Given the description of an element on the screen output the (x, y) to click on. 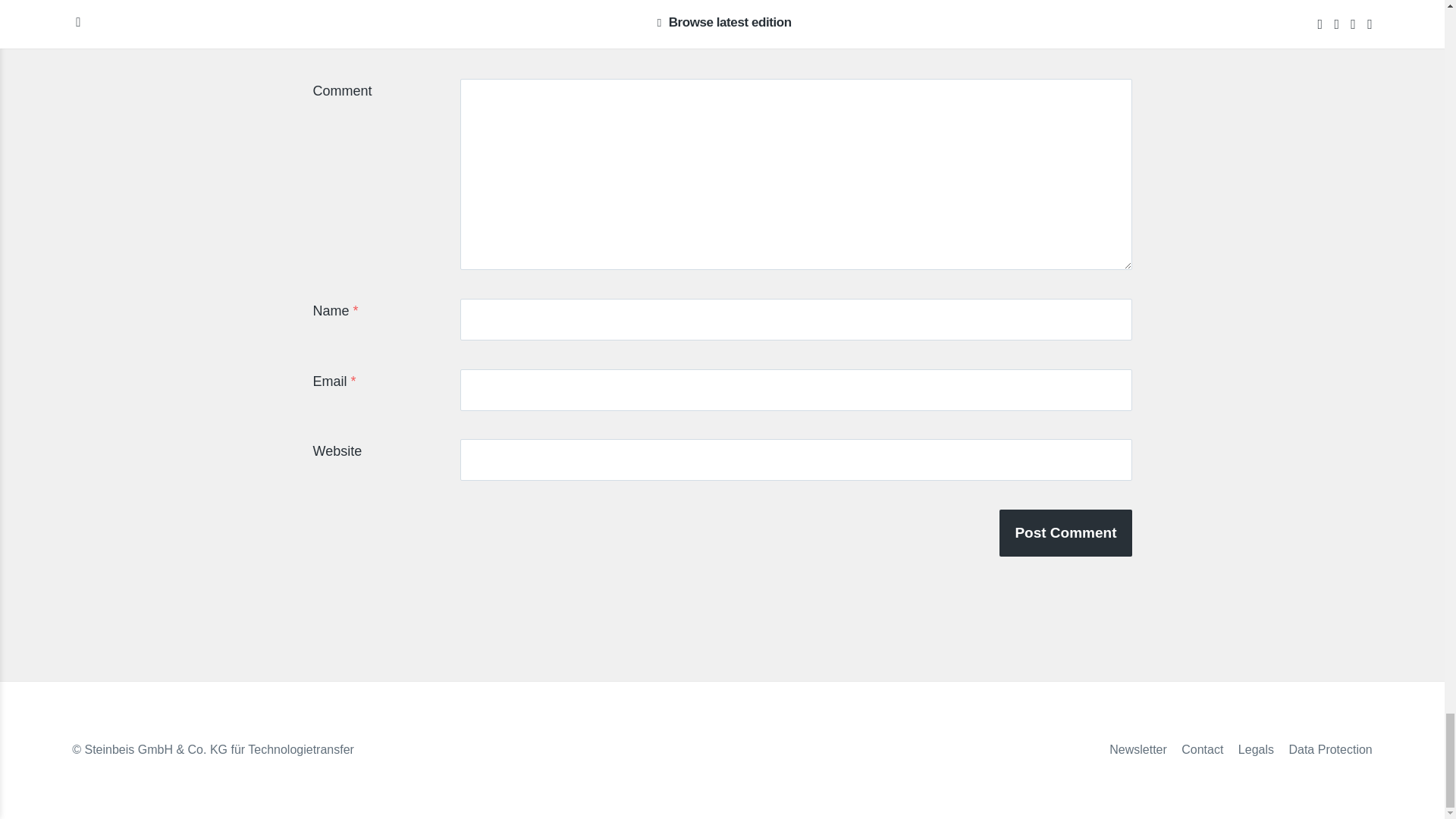
Post Comment (1064, 532)
